Given the description of an element on the screen output the (x, y) to click on. 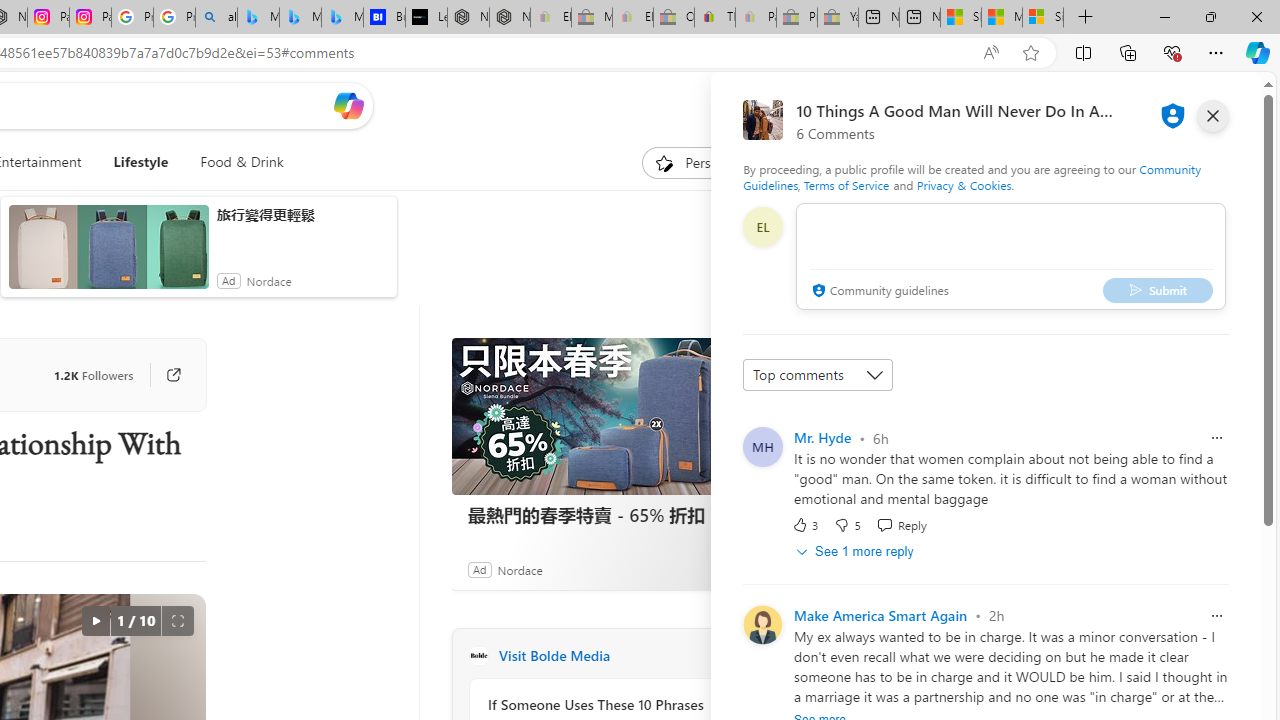
Threats and offensive language policy | eBay (714, 17)
alabama high school quarterback dies - Search (215, 17)
Terms of Service (846, 184)
Press Room - eBay Inc. - Sleeping (796, 17)
Dislike (847, 524)
Personalize (703, 162)
Make America Smart Again (880, 614)
Privacy & Cookies (964, 184)
Profile Picture (762, 624)
See 1 more reply (855, 551)
